Given the description of an element on the screen output the (x, y) to click on. 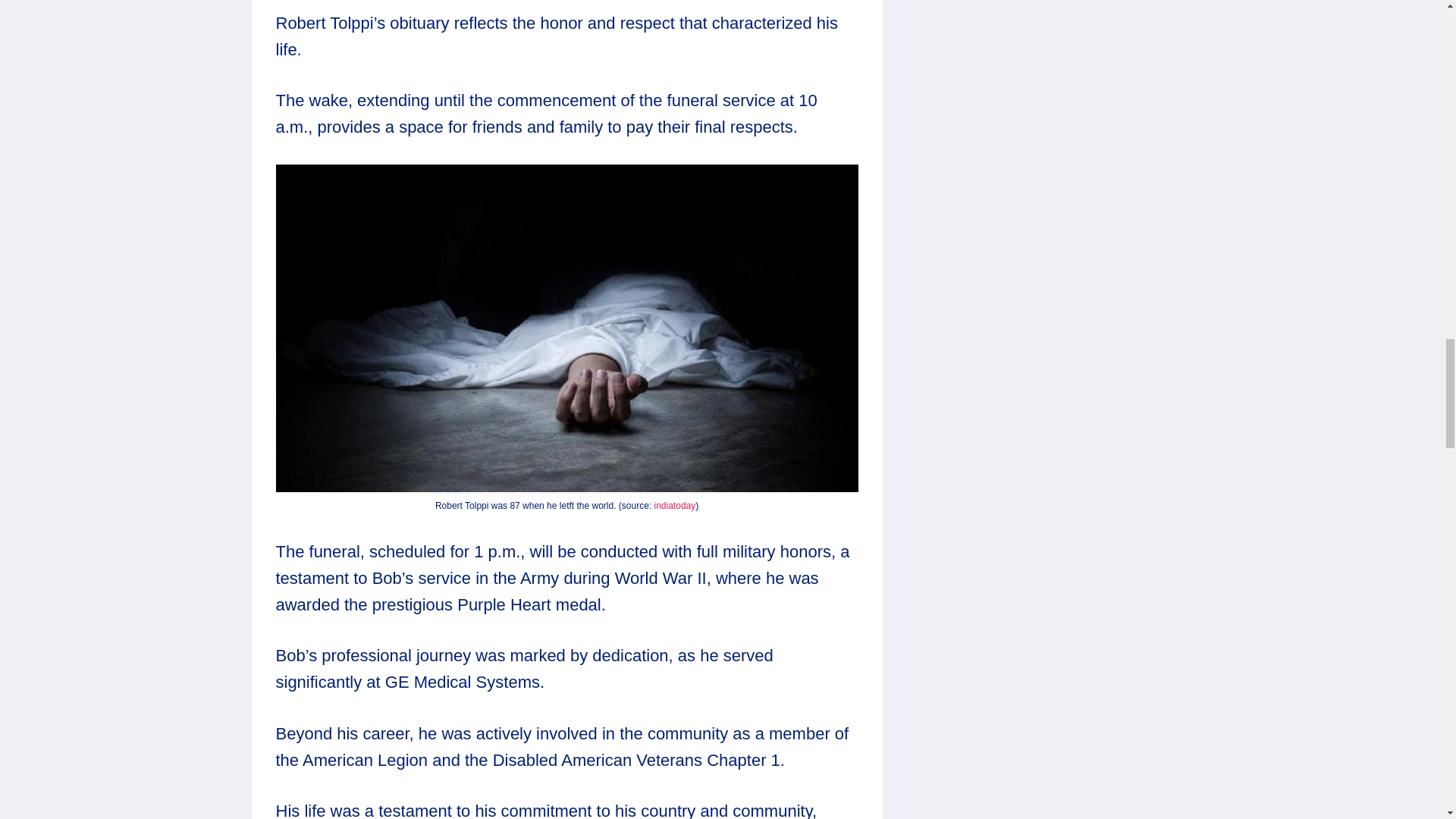
indiatoday (674, 505)
